Given the description of an element on the screen output the (x, y) to click on. 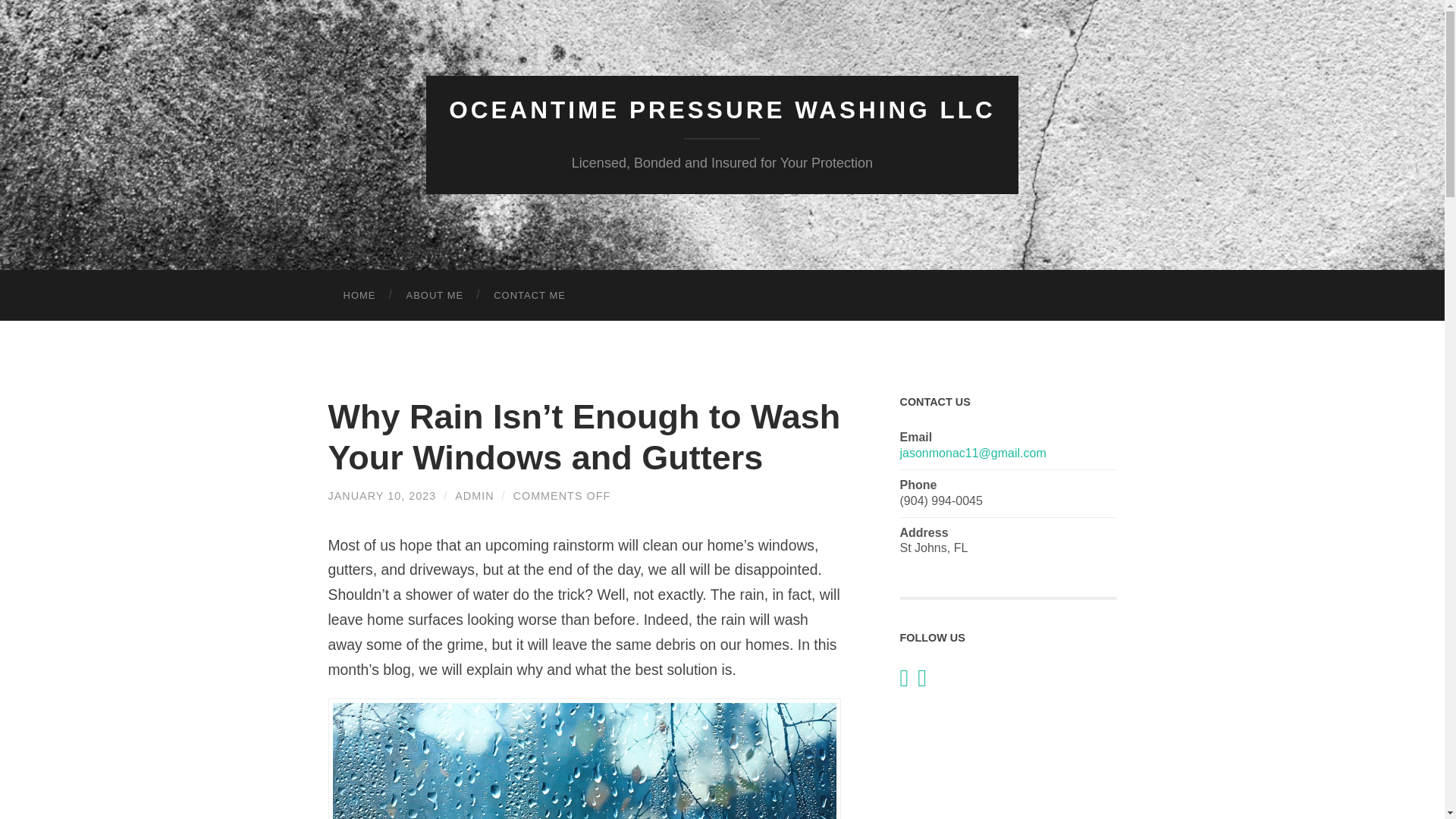
ADMIN (473, 495)
HOME (358, 295)
OCEANTIME PRESSURE WASHING LLC (721, 109)
Posts by admin (473, 495)
ABOUT ME (435, 295)
CONTACT ME (529, 295)
JANUARY 10, 2023 (381, 495)
